Given the description of an element on the screen output the (x, y) to click on. 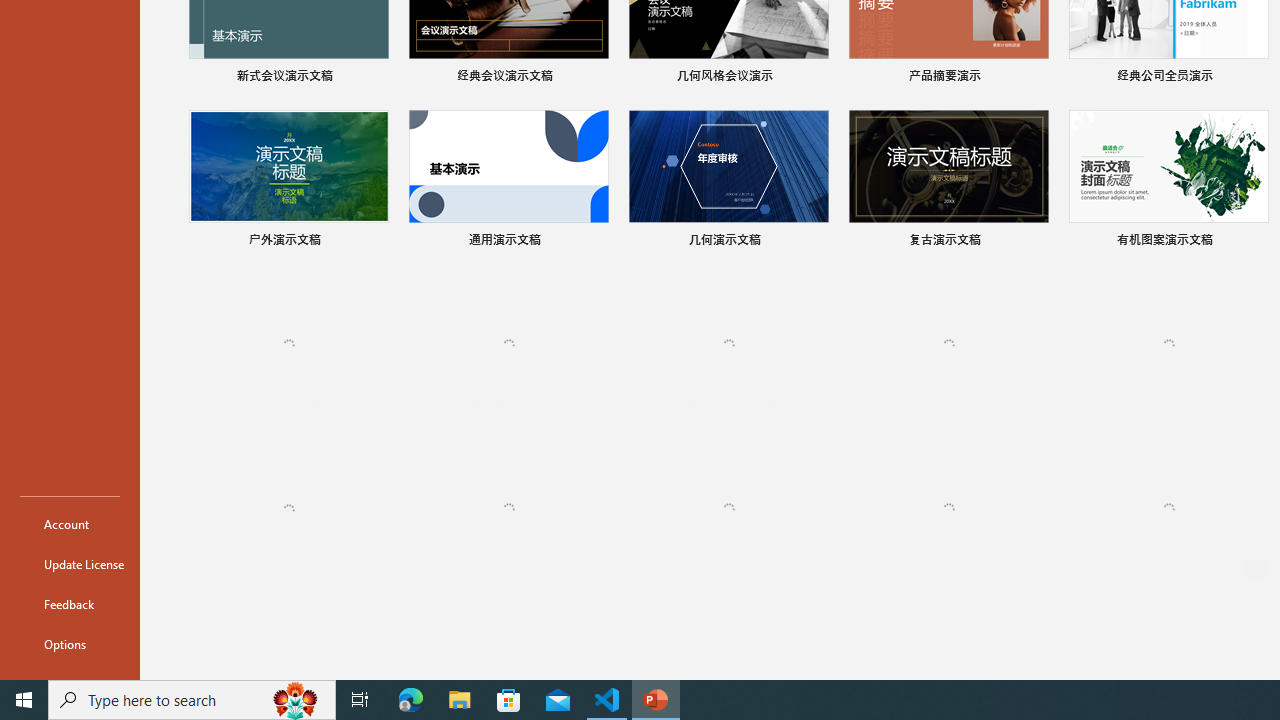
Update License (69, 563)
Pin to list (1035, 569)
Account (69, 523)
Options (69, 643)
Class: NetUIAnimatedImage (1169, 508)
